Given the description of an element on the screen output the (x, y) to click on. 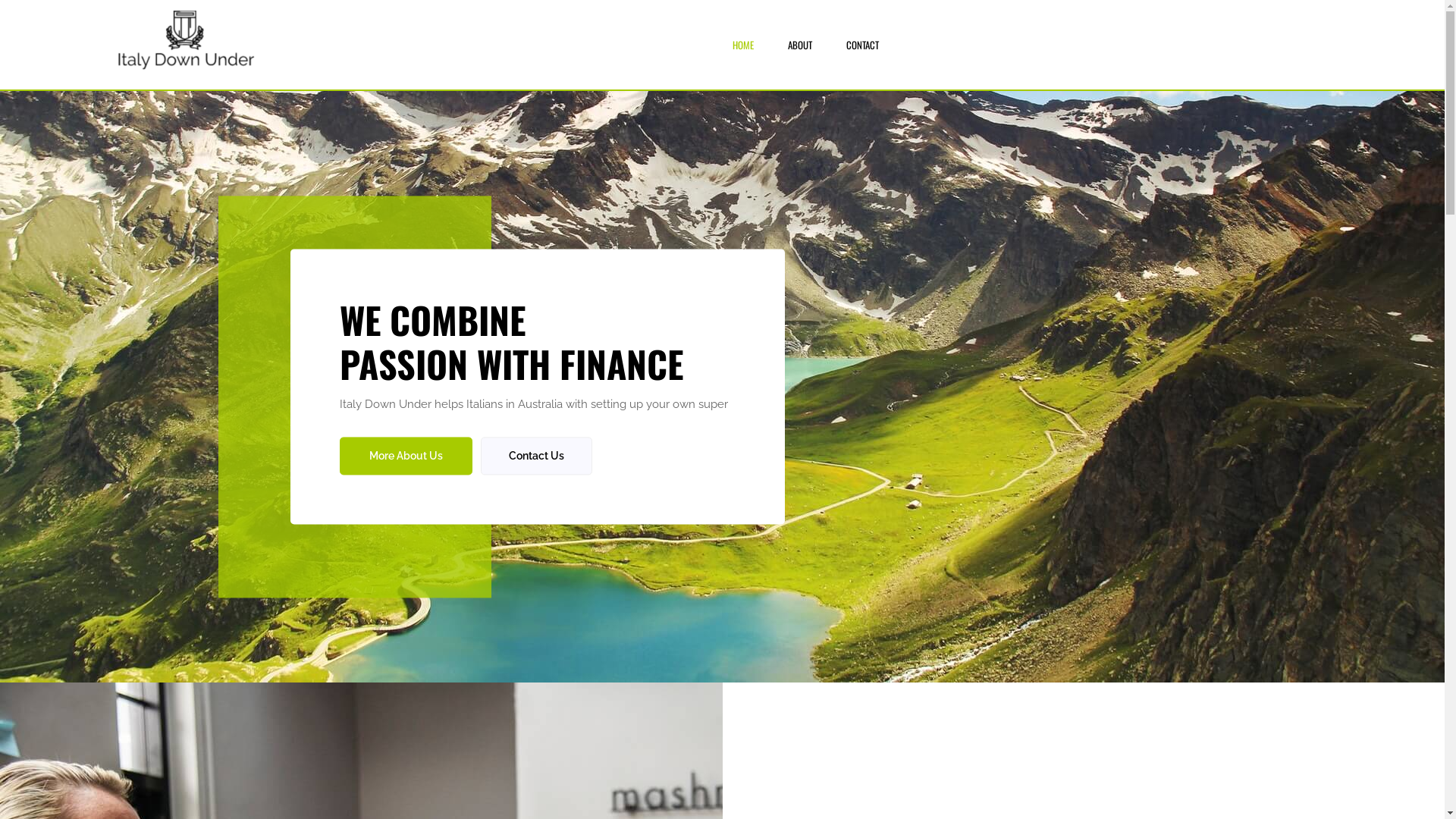
CONTACT Element type: text (862, 44)
More About Us Element type: text (405, 456)
Contact Us Element type: text (536, 456)
HOME Element type: text (742, 44)
ABOUT Element type: text (799, 44)
